Given the description of an element on the screen output the (x, y) to click on. 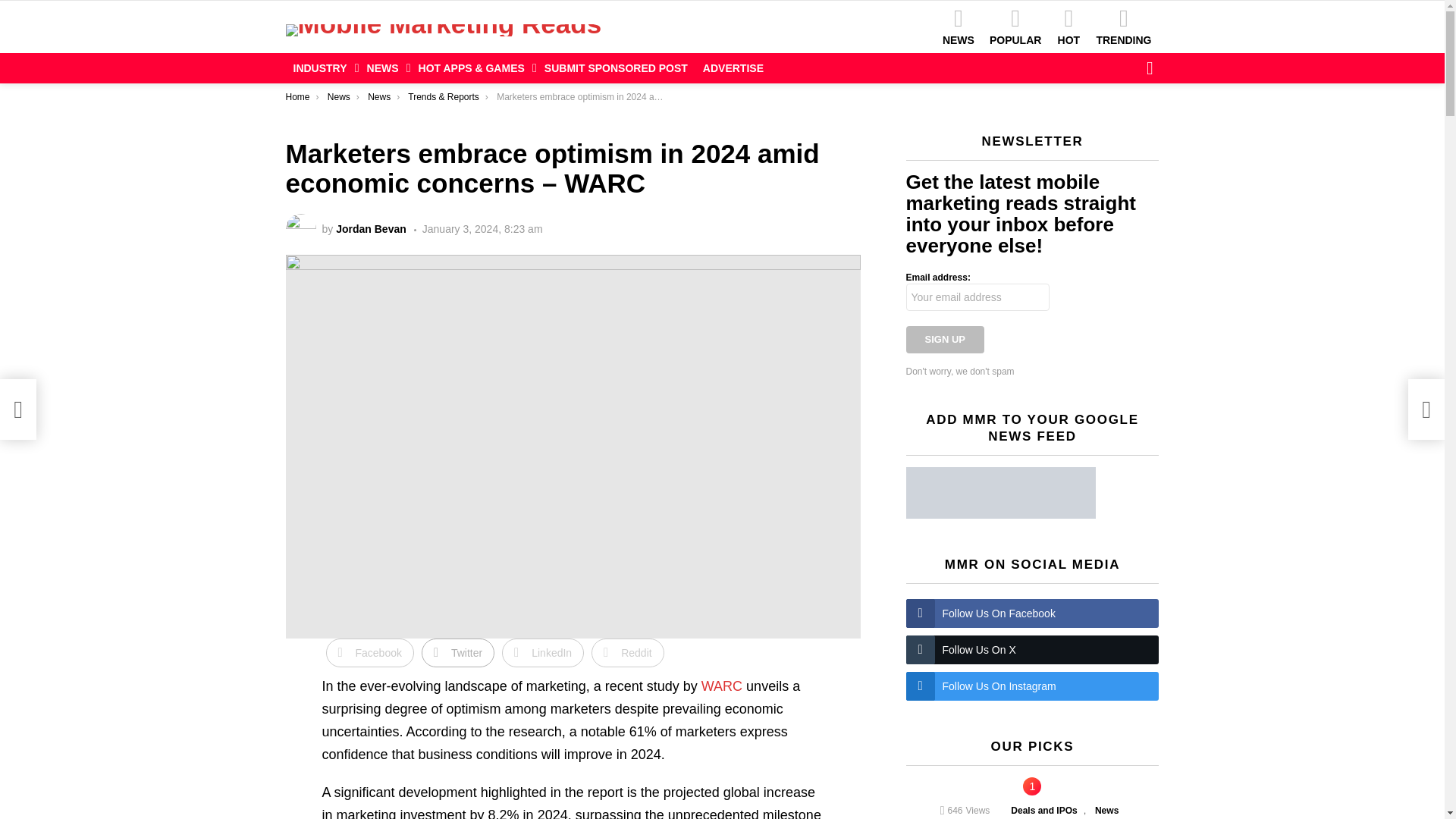
HOT (1067, 25)
NEWS (384, 67)
TRENDING (1122, 25)
POPULAR (1014, 25)
Sign up (944, 338)
NEWS (957, 25)
SUBMIT SPONSORED POST (616, 67)
INDUSTRY (321, 67)
ADVERTISE (733, 67)
Posts by Jordan Bevan (371, 228)
